Given the description of an element on the screen output the (x, y) to click on. 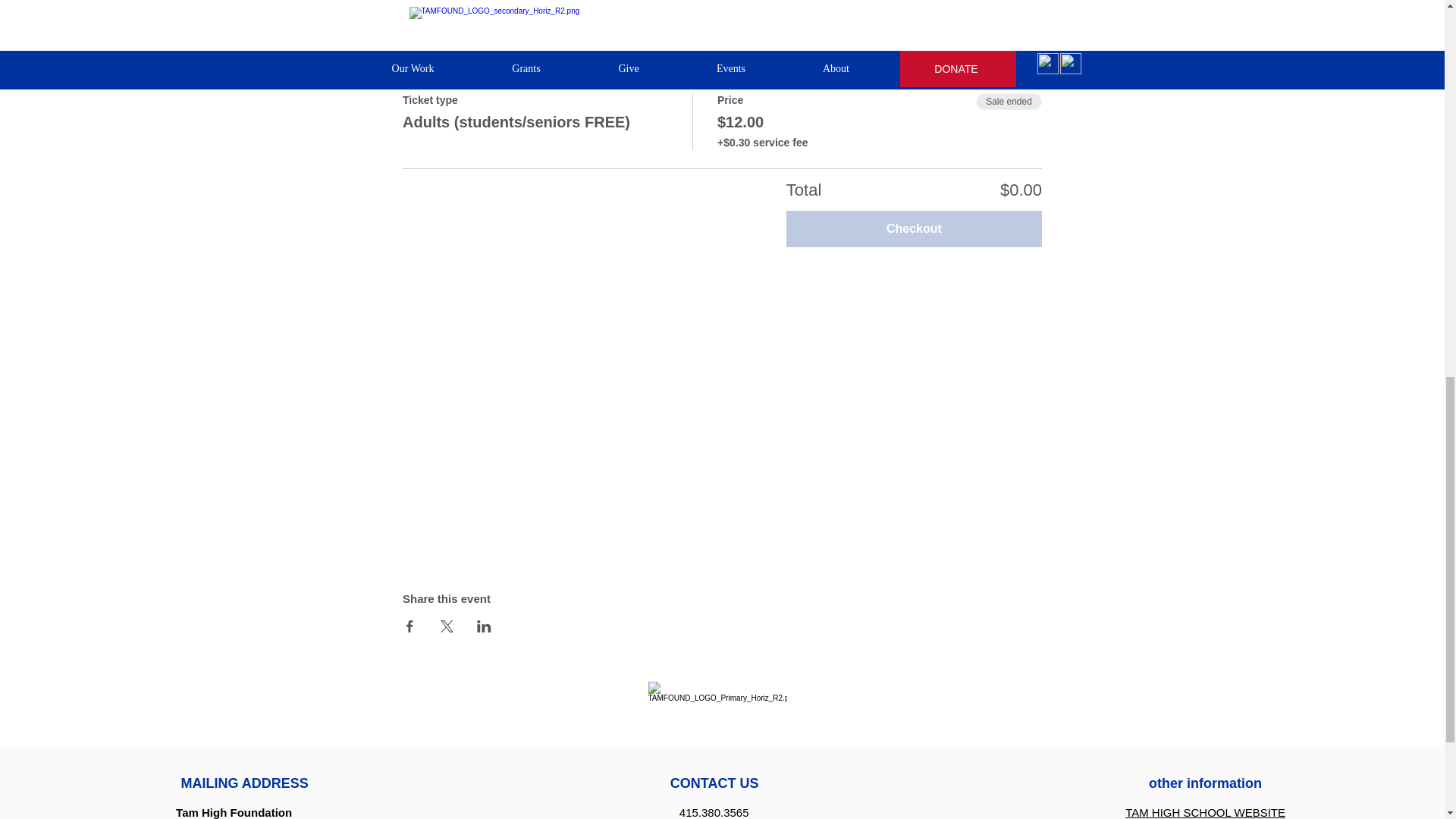
TAM HIGH SCHOOL WEBSITE (1205, 812)
Checkout (914, 228)
